Given the description of an element on the screen output the (x, y) to click on. 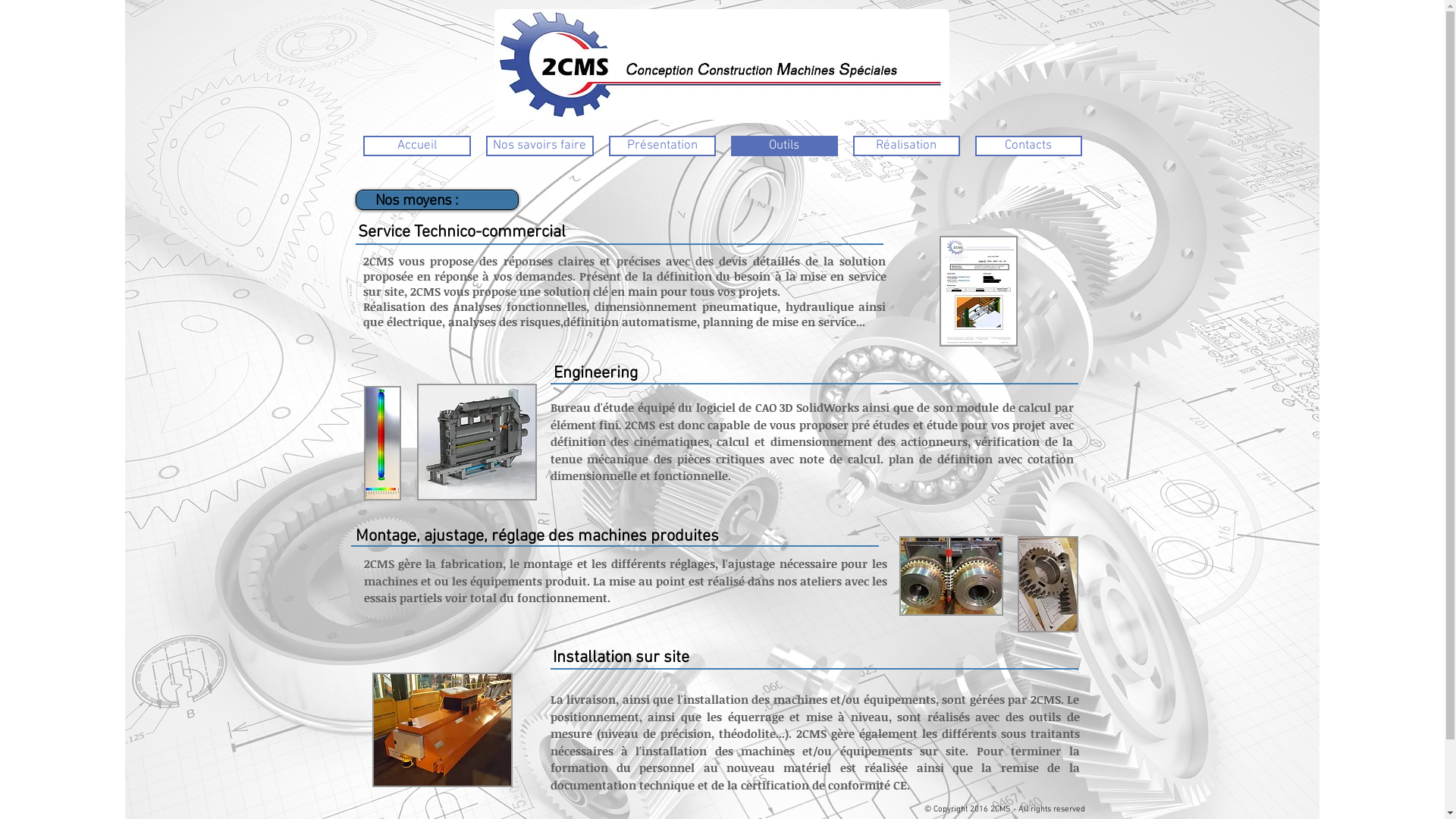
Outils Element type: text (784, 145)
Nos savoirs faire Element type: text (539, 145)
Accueil Element type: text (416, 145)
Contacts Element type: text (1028, 145)
